Given the description of an element on the screen output the (x, y) to click on. 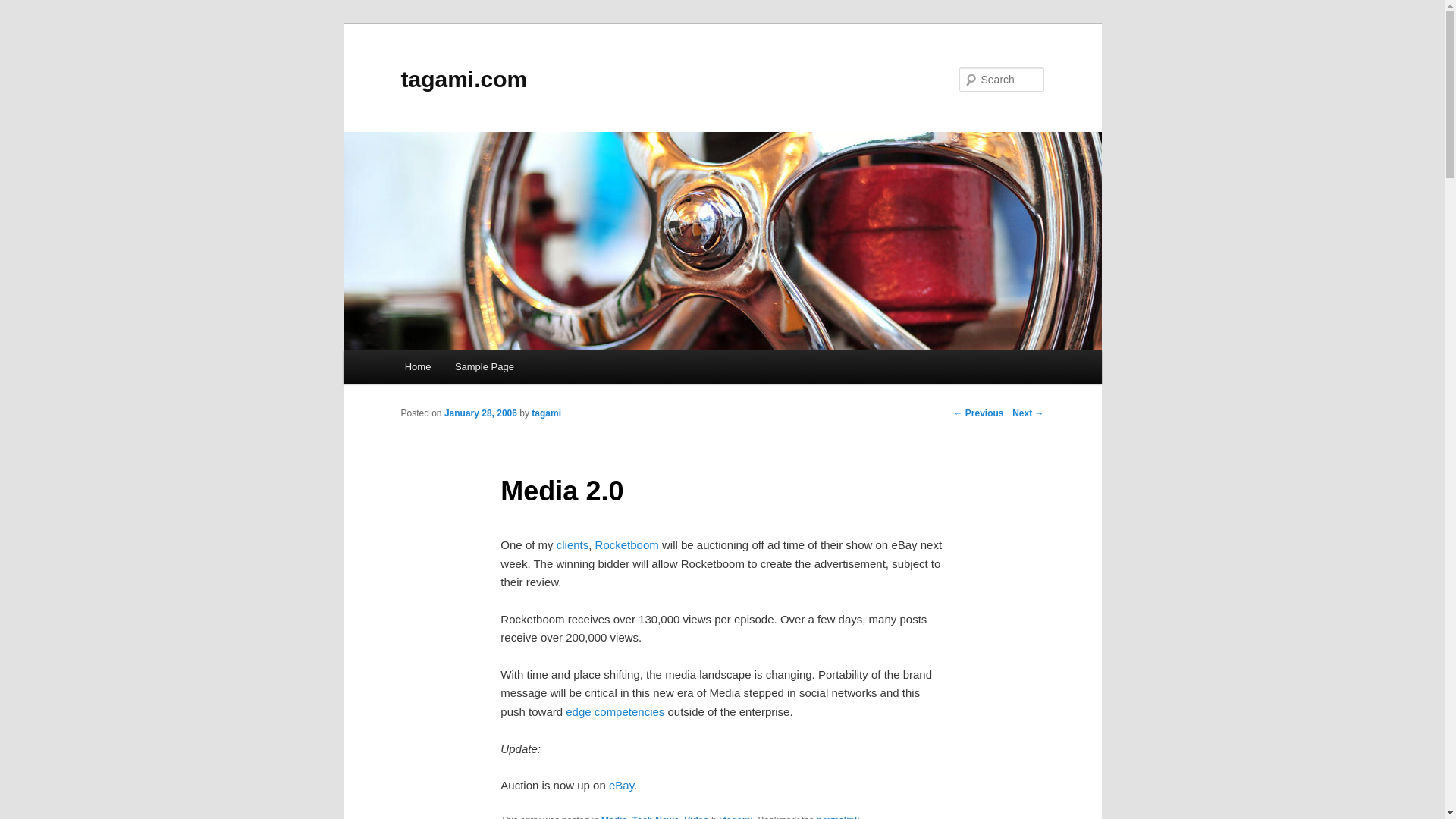
tagami (545, 412)
View all posts in Video (695, 816)
View all posts by tagami (545, 412)
Video (695, 816)
Skip to primary content (472, 369)
eBay (620, 784)
Media (614, 816)
tagami.com (463, 78)
Skip to secondary content (479, 369)
tagami (737, 816)
